Given the description of an element on the screen output the (x, y) to click on. 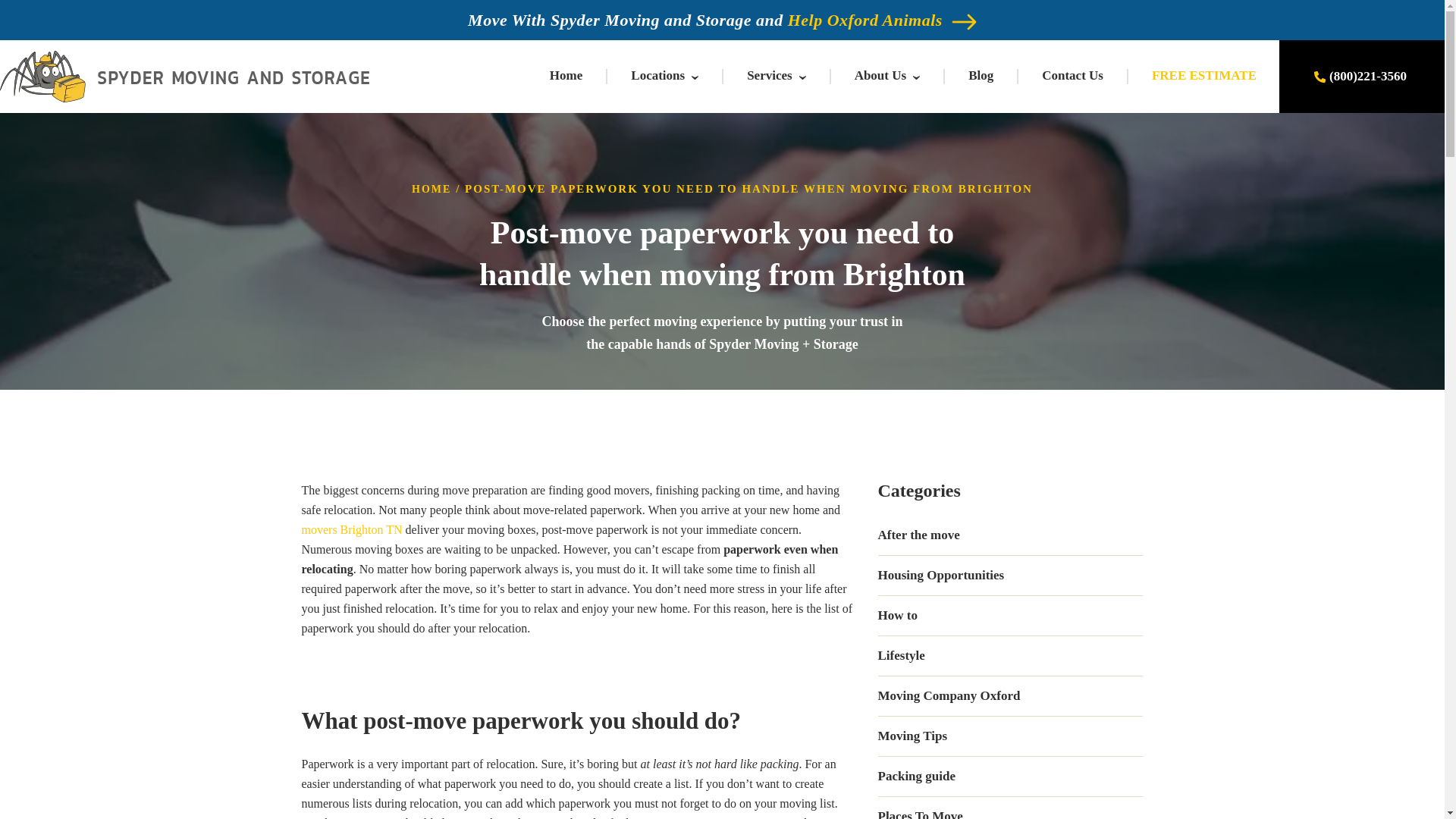
HOME (431, 188)
About Us (880, 75)
Services (769, 75)
Locations (657, 75)
movers Brighton TN (352, 529)
moving companies Tennesse (716, 817)
Contact Us (1072, 75)
FREE ESTIMATE (1203, 75)
